Given the description of an element on the screen output the (x, y) to click on. 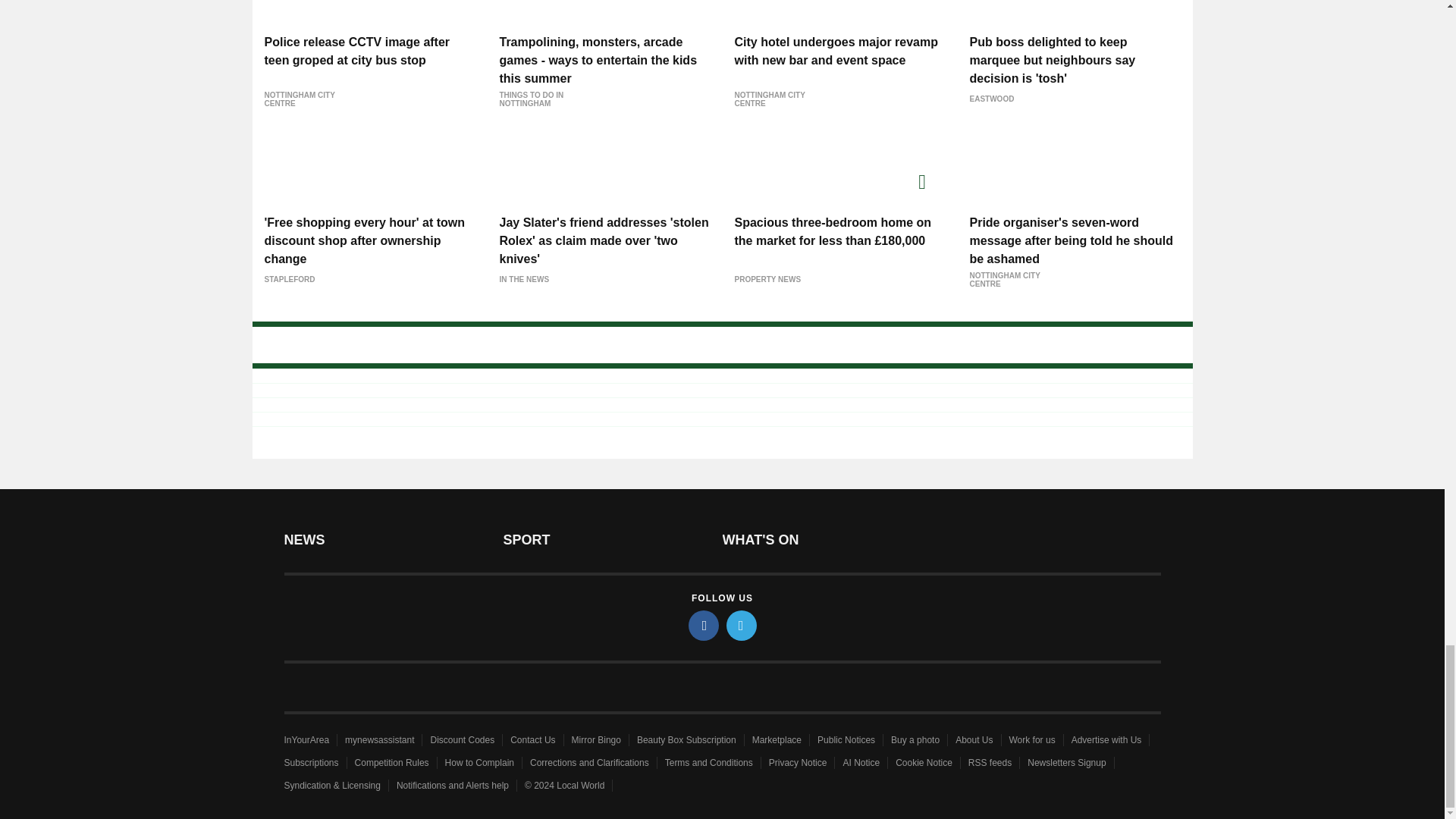
facebook (703, 625)
twitter (741, 625)
